Given the description of an element on the screen output the (x, y) to click on. 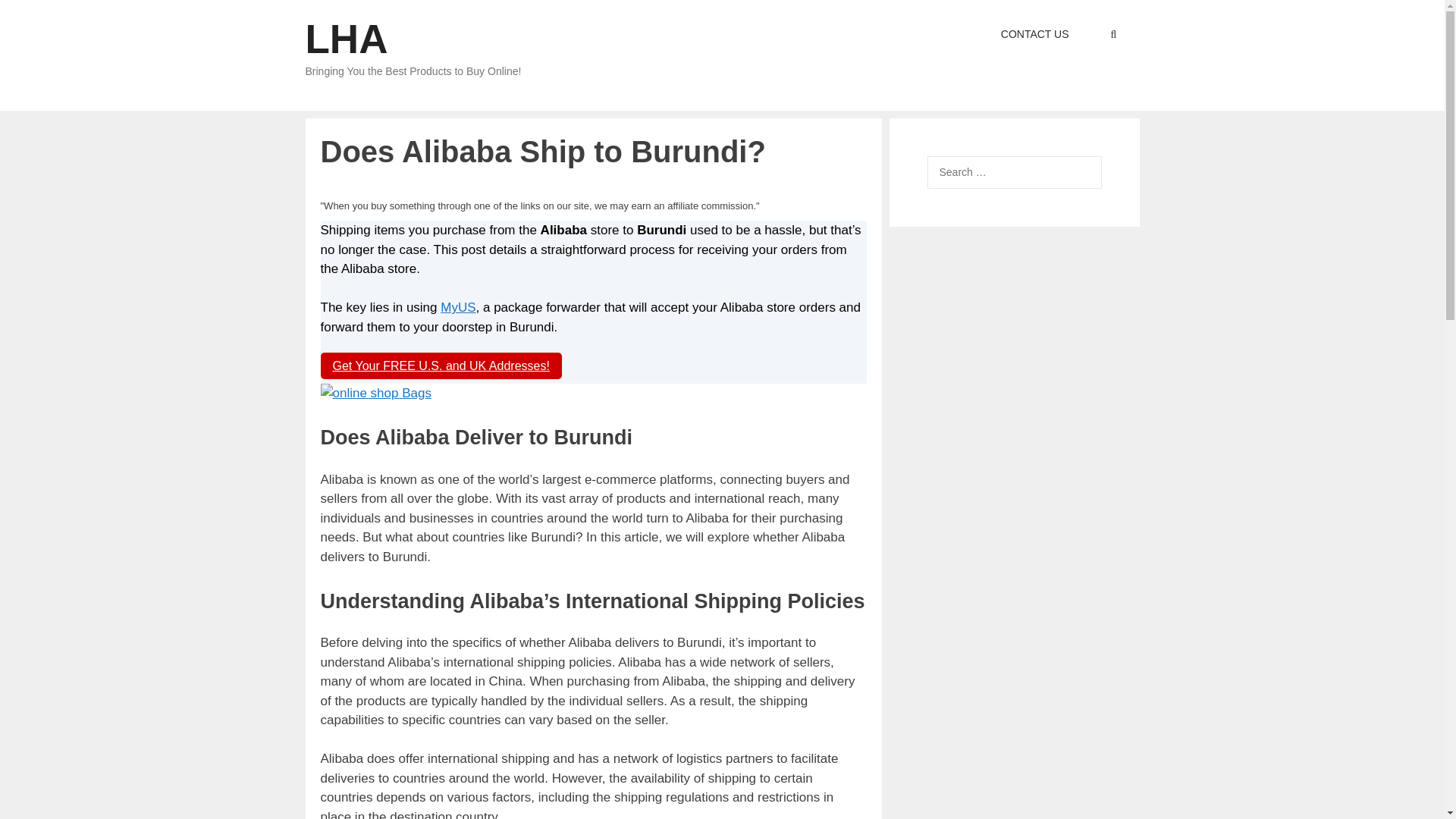
MyUS (458, 307)
Get Your FREE U.S. and UK Addresses! (440, 365)
LHA (345, 38)
Search for: (1013, 172)
Search (36, 15)
CONTACT US (1034, 34)
